Given the description of an element on the screen output the (x, y) to click on. 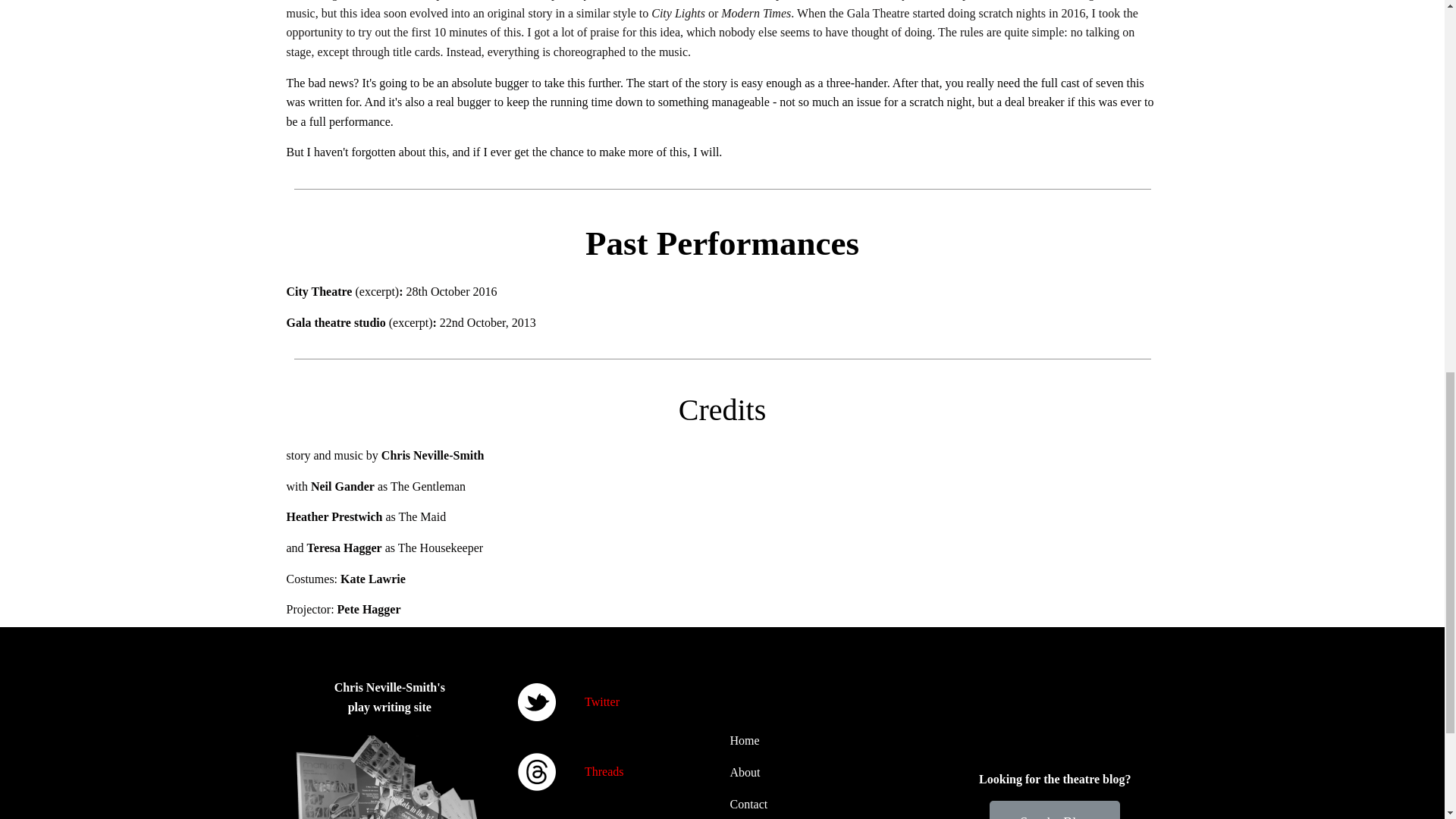
twitter icon (535, 702)
threads icon (535, 771)
Montage small bw (390, 777)
